Given the description of an element on the screen output the (x, y) to click on. 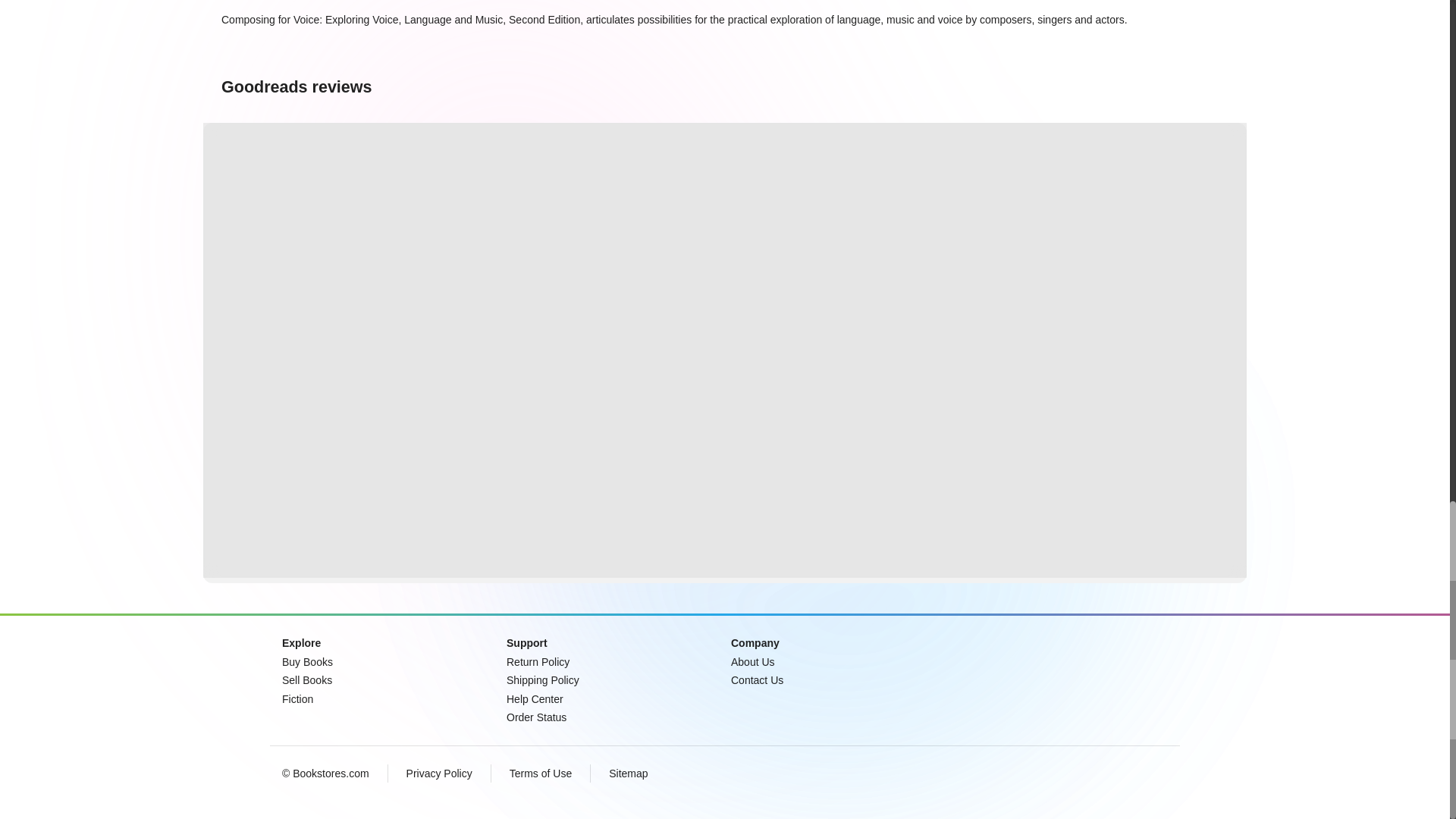
Sitemap (627, 773)
Help Center (534, 698)
Sell Books (306, 680)
Contact Us (756, 680)
Privacy Policy (438, 773)
Terms of Use (540, 773)
About Us (752, 661)
Shipping Policy (542, 680)
Fiction (297, 698)
Return Policy (537, 661)
Buy Books (307, 661)
Order Status (536, 717)
